Given the description of an element on the screen output the (x, y) to click on. 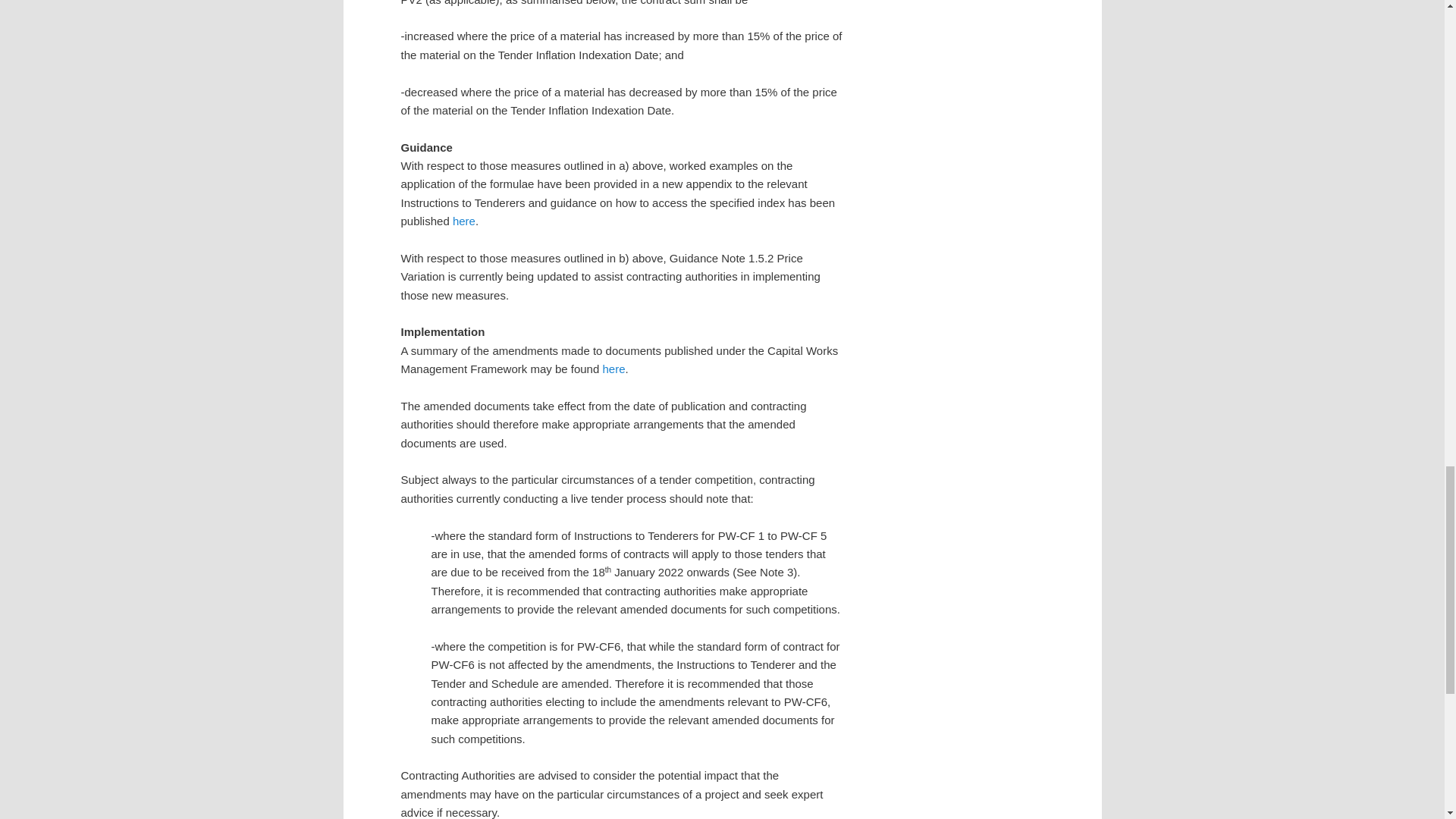
here (464, 220)
here (613, 368)
